Given the description of an element on the screen output the (x, y) to click on. 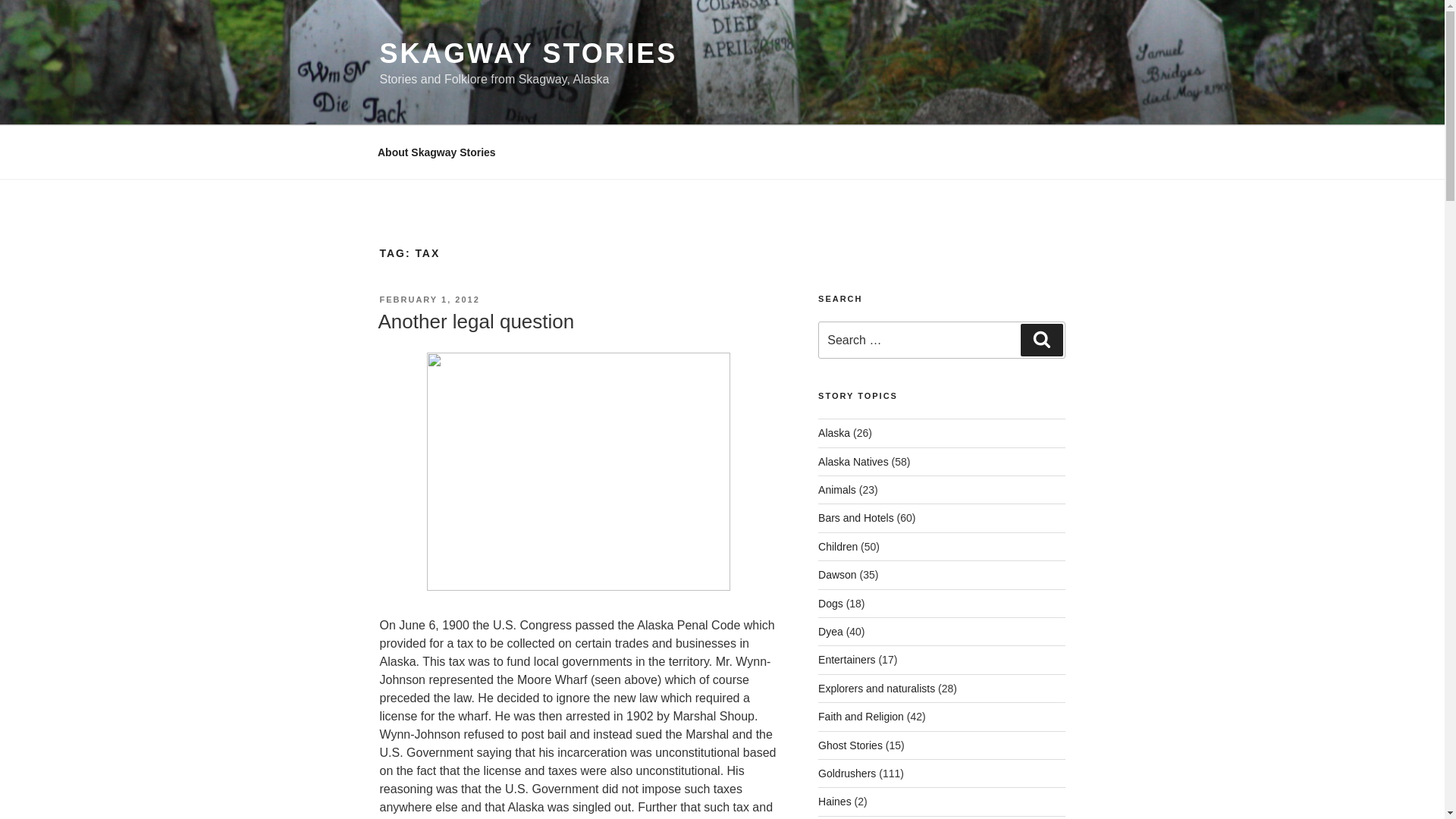
Dawson (837, 574)
Another legal question (475, 321)
Alaska (834, 432)
Search (1041, 339)
Ghost Stories (850, 745)
FEBRUARY 1, 2012 (428, 298)
Animals (837, 490)
About Skagway Stories (436, 151)
Dogs (830, 603)
Dyea (830, 631)
